Given the description of an element on the screen output the (x, y) to click on. 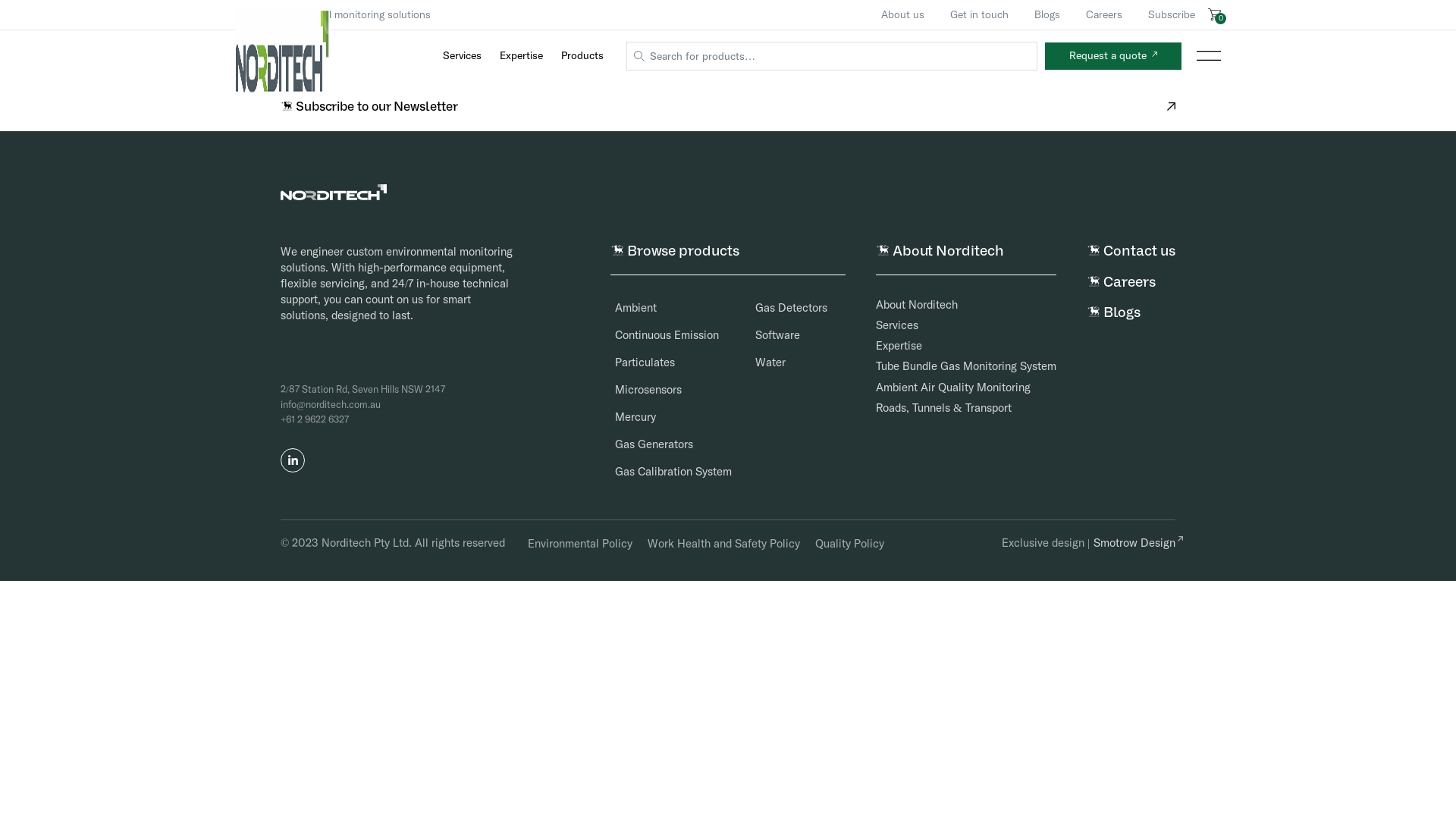
Expertise Element type: text (898, 344)
Gas Detectors Element type: text (780, 307)
+61 2 9622 6327 Element type: text (314, 419)
Continuous Emission Element type: text (655, 335)
Expertise Element type: text (520, 55)
Blogs Element type: text (1047, 14)
About us Element type: text (902, 14)
Careers Element type: text (1103, 14)
Tube Bundle Gas Monitoring System Element type: text (965, 365)
Gas Calibration System Element type: text (662, 471)
Ambient Air Quality Monitoring Element type: text (952, 386)
Work Health and Safety Policy Element type: text (723, 543)
Get in touch Element type: text (979, 14)
Environmental Policy Element type: text (579, 543)
Software Element type: text (767, 335)
Products Element type: text (582, 55)
info@norditech.com.au Element type: text (330, 404)
Smotrow Design Element type: text (1134, 542)
Gas Generators Element type: text (643, 444)
Water Element type: text (759, 362)
0 Element type: text (1214, 13)
Mercury Element type: text (624, 416)
Services Element type: text (896, 324)
About Norditech Element type: text (916, 304)
Particulates Element type: text (633, 362)
Quality Policy Element type: text (849, 543)
Roads, Tunnels & Transport Element type: text (943, 407)
Ambient Element type: text (624, 307)
Microsensors Element type: text (637, 389)
Services Element type: text (461, 55)
